Given the description of an element on the screen output the (x, y) to click on. 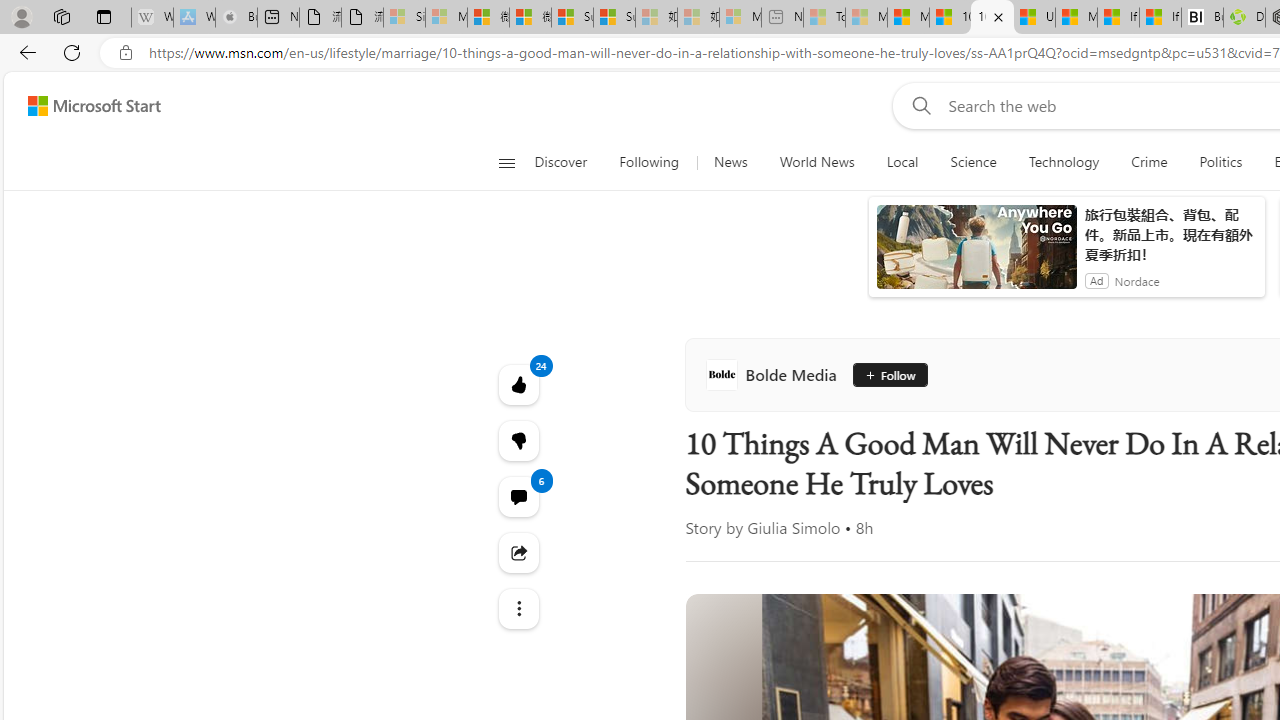
Workspaces (61, 16)
Wikipedia - Sleeping (151, 17)
Science (973, 162)
Marine life - MSN - Sleeping (866, 17)
Following (648, 162)
Nordace (1136, 280)
Local (902, 162)
Technology (1063, 162)
Class: at-item (517, 609)
Skip to content (86, 105)
Following (649, 162)
New tab (278, 17)
24 (517, 440)
Politics (1220, 162)
